Given the description of an element on the screen output the (x, y) to click on. 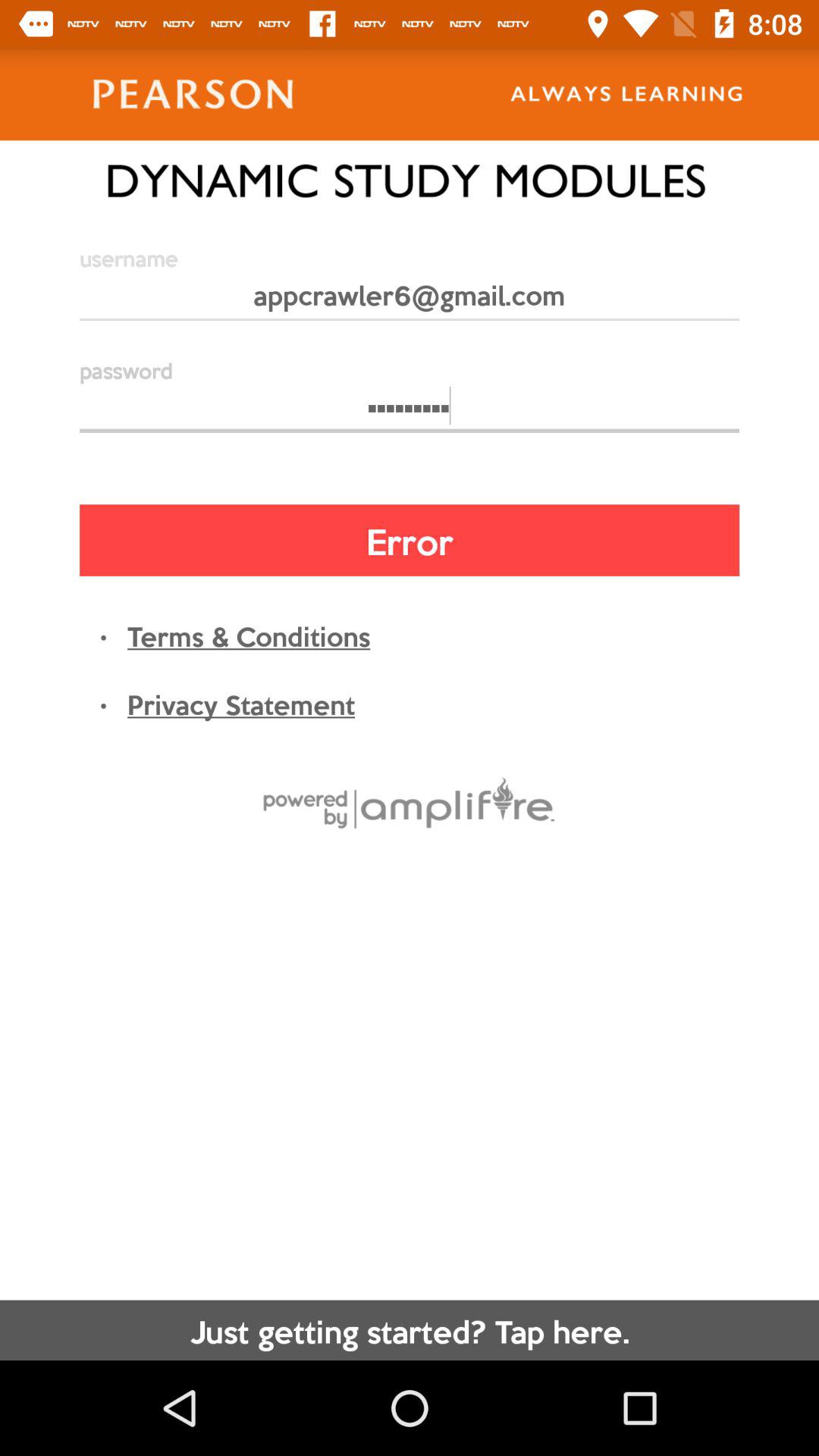
click the privacy statement icon (240, 703)
